Given the description of an element on the screen output the (x, y) to click on. 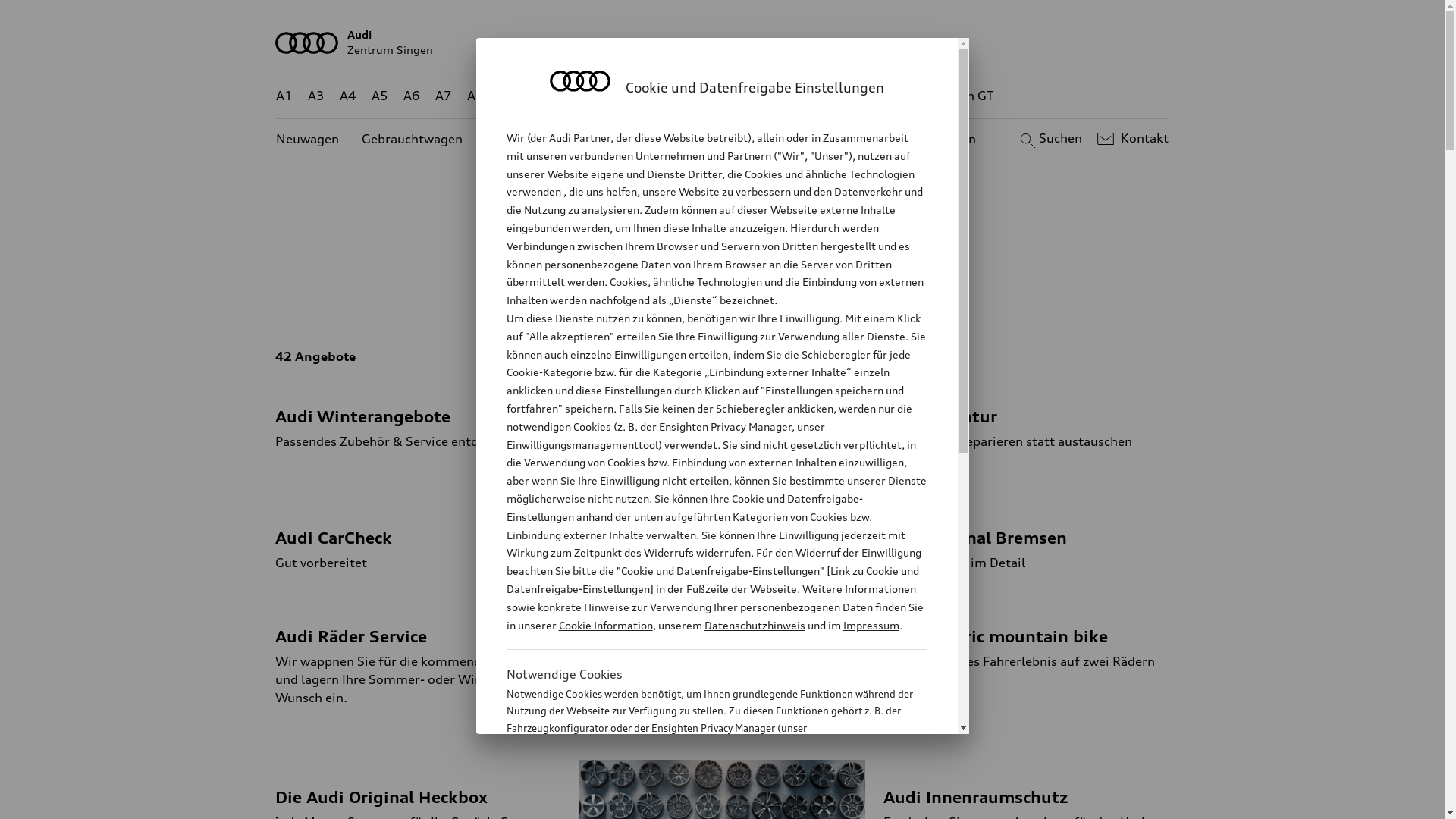
Impressum Element type: text (871, 624)
A8 Element type: text (475, 95)
Kundenservice Element type: text (730, 139)
Q4 e-tron Element type: text (592, 95)
Q8 e-tron Element type: text (763, 95)
Cookie Information Element type: text (700, 802)
g-tron Element type: text (903, 95)
Datenschutzhinweis Element type: text (753, 624)
Teilereparatur
Originalteile reparieren statt austauschen Element type: text (1026, 414)
Angebote Element type: text (636, 139)
TT Element type: text (814, 95)
A3 Element type: text (315, 95)
Alle Angebote Element type: text (604, 293)
Fahrzeuge Element type: text (703, 293)
A7 Element type: text (443, 95)
Audi
Zentrum Singen Element type: text (722, 42)
RS Element type: text (861, 95)
A5 Element type: text (379, 95)
Cookie Information Element type: text (605, 624)
Q7 Element type: text (678, 95)
Kontakt Element type: text (1130, 138)
Service Element type: text (860, 293)
Audi Original Bremsen
Die Kraft liegt im Detail Element type: text (1026, 535)
e-tron GT Element type: text (965, 95)
Audi Partner Element type: text (579, 137)
A1 Element type: text (284, 95)
Gebrauchtwagen Element type: text (411, 139)
Q8 Element type: text (710, 95)
Q3 Element type: text (540, 95)
A6 Element type: text (411, 95)
Saubere Sache
Wischer & Aerowischer von Audi Original Teile Element type: text (722, 535)
Suchen Element type: text (1049, 138)
Q5 Element type: text (645, 95)
Audi CarCheck
Gut vorbereitet Element type: text (418, 535)
Q2 Element type: text (507, 95)
Neuwagen Element type: text (307, 139)
A4 Element type: text (347, 95)
